Given the description of an element on the screen output the (x, y) to click on. 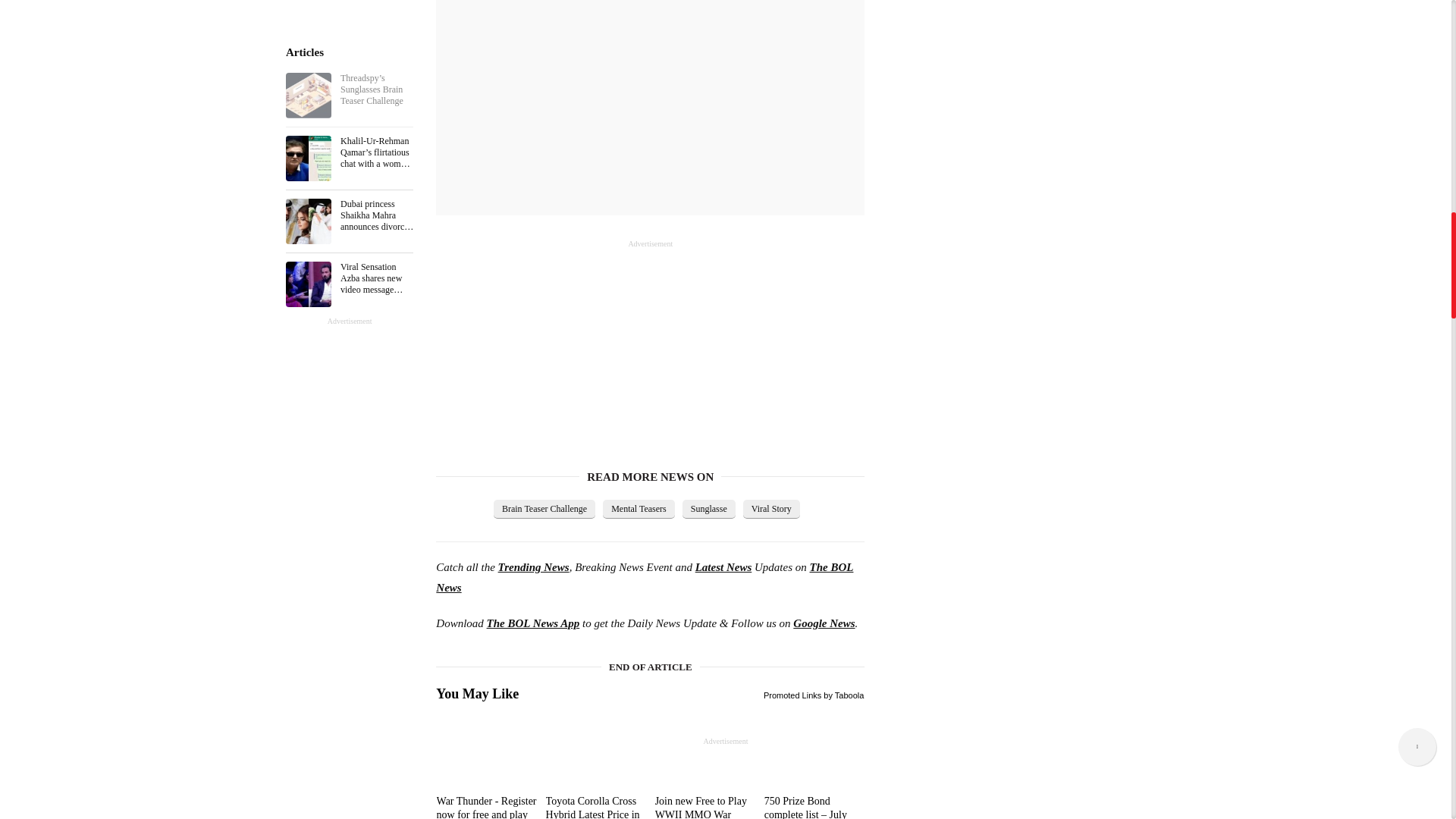
Advertisement (549, 343)
Join new Free to Play WWII MMO War Thunder (705, 806)
Advertisement (649, 99)
Toyota Corolla Cross Hybrid Latest Price in Pakistan 2024 (596, 806)
